Given the description of an element on the screen output the (x, y) to click on. 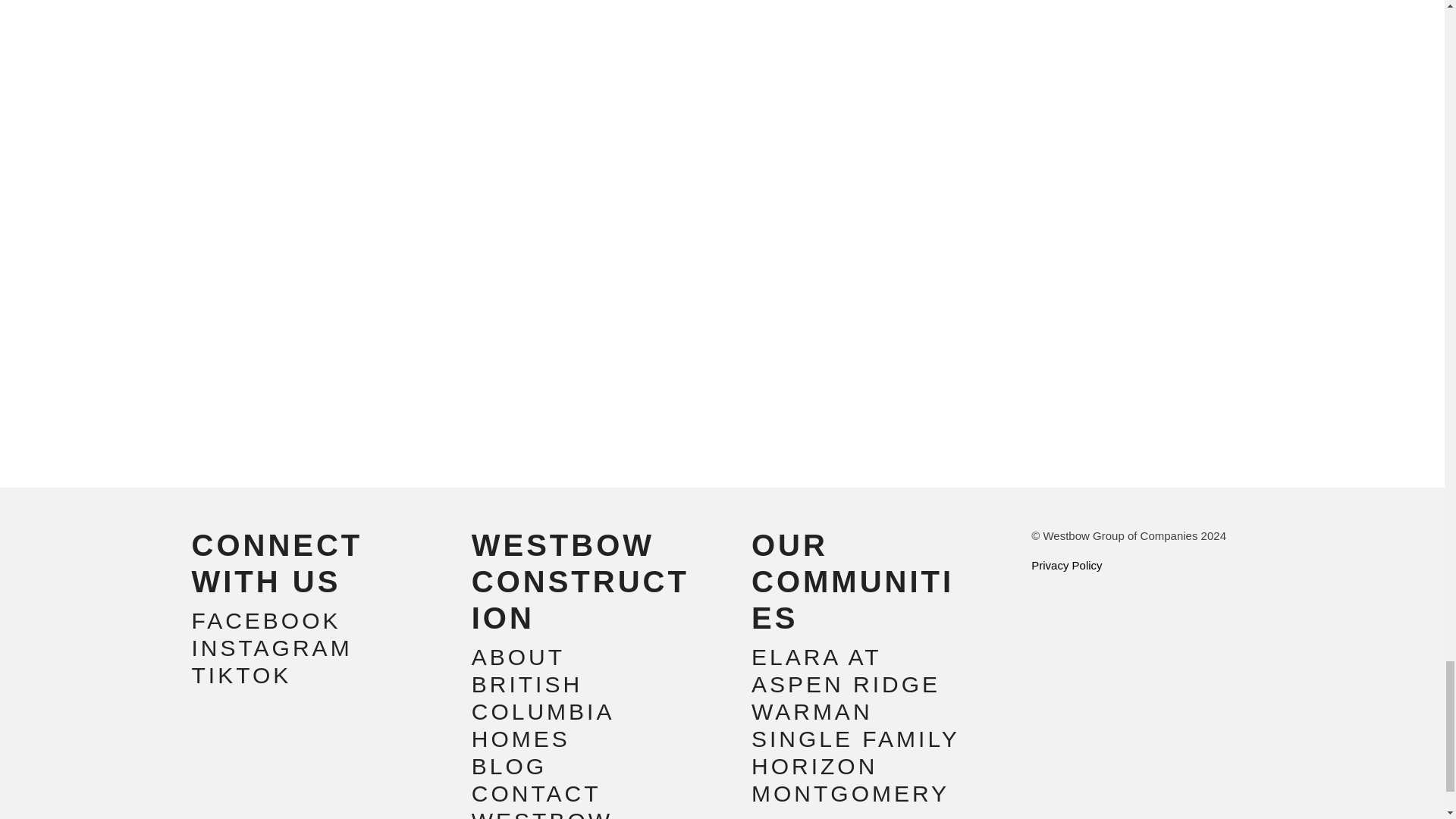
TIKTOK (240, 674)
WARMAN SINGLE FAMILY (855, 725)
INSTAGRAM  (275, 647)
Privacy Policy (1066, 564)
MONTGOMERY  (854, 793)
Submit (235, 379)
WESTBOW GIVES BACK (555, 813)
BLOG (509, 765)
ELARA AT ASPEN RIDGE (845, 670)
HORIZON  (818, 765)
